Given the description of an element on the screen output the (x, y) to click on. 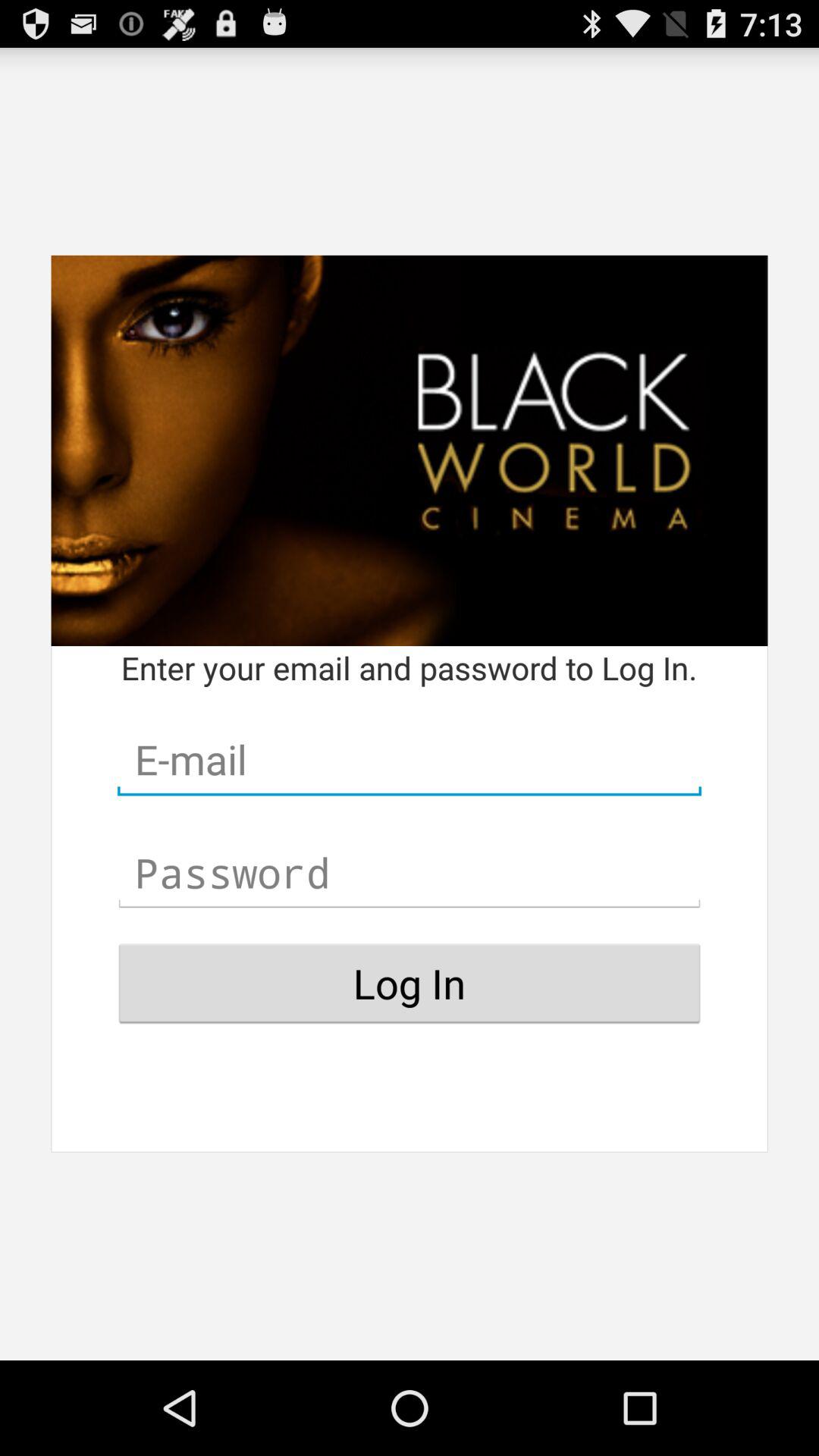
password sign in page (409, 872)
